Given the description of an element on the screen output the (x, y) to click on. 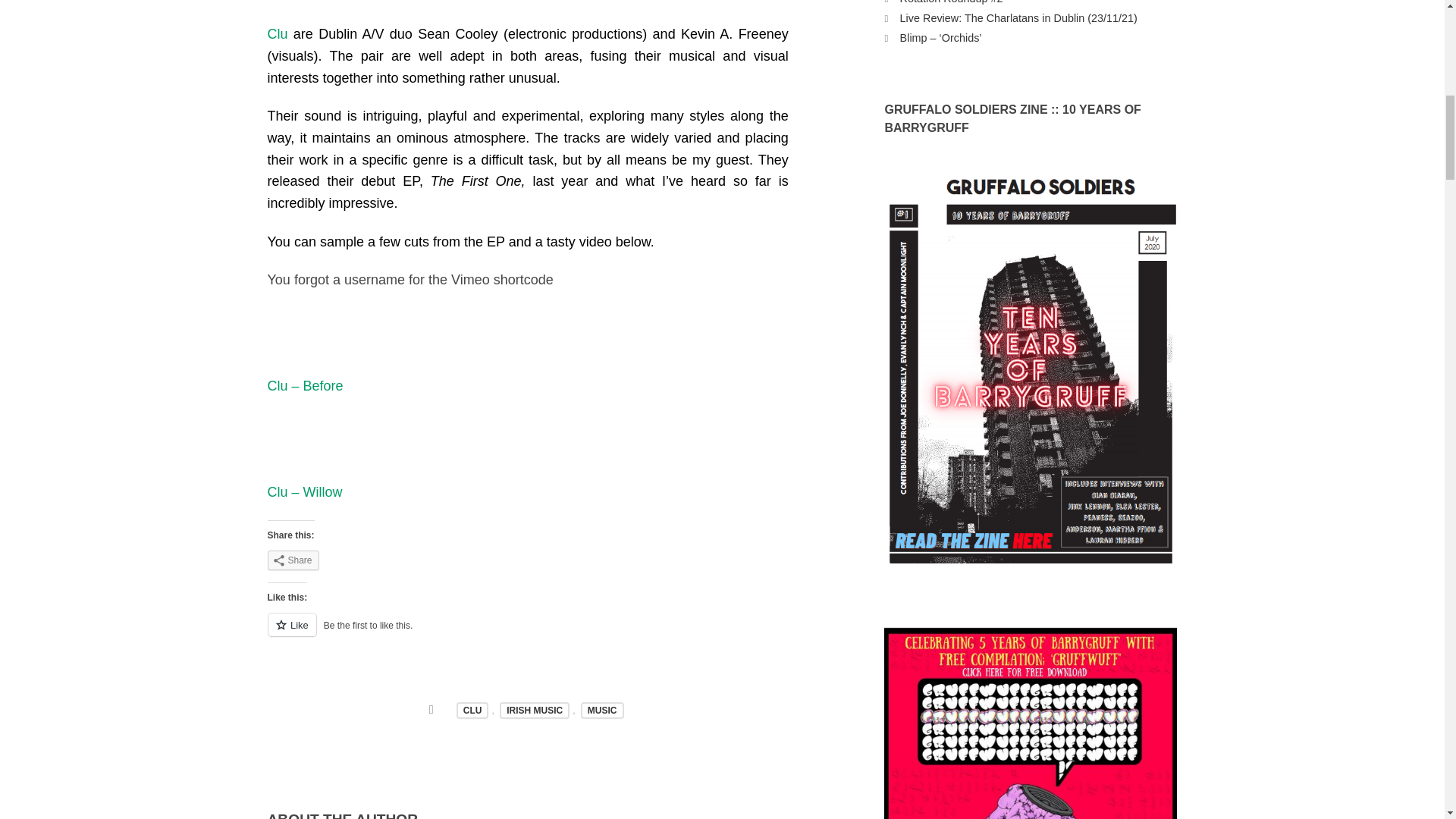
CLU (473, 710)
MUSIC (602, 710)
Share (292, 560)
Clu (276, 33)
IRISH MUSIC (534, 710)
